Given the description of an element on the screen output the (x, y) to click on. 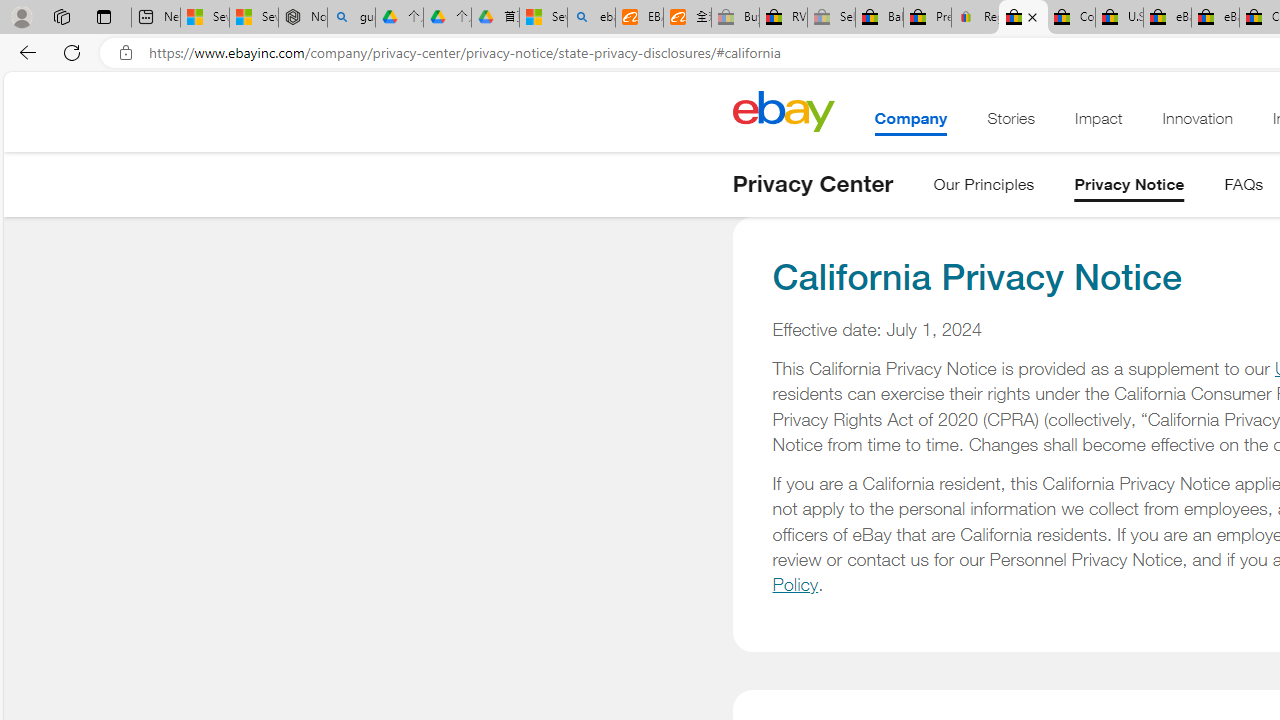
Privacy Center (812, 183)
FAQs (1243, 188)
Press Room - eBay Inc. (927, 17)
guge yunpan - Search (351, 17)
Register: Create a personal eBay account (975, 17)
